Given the description of an element on the screen output the (x, y) to click on. 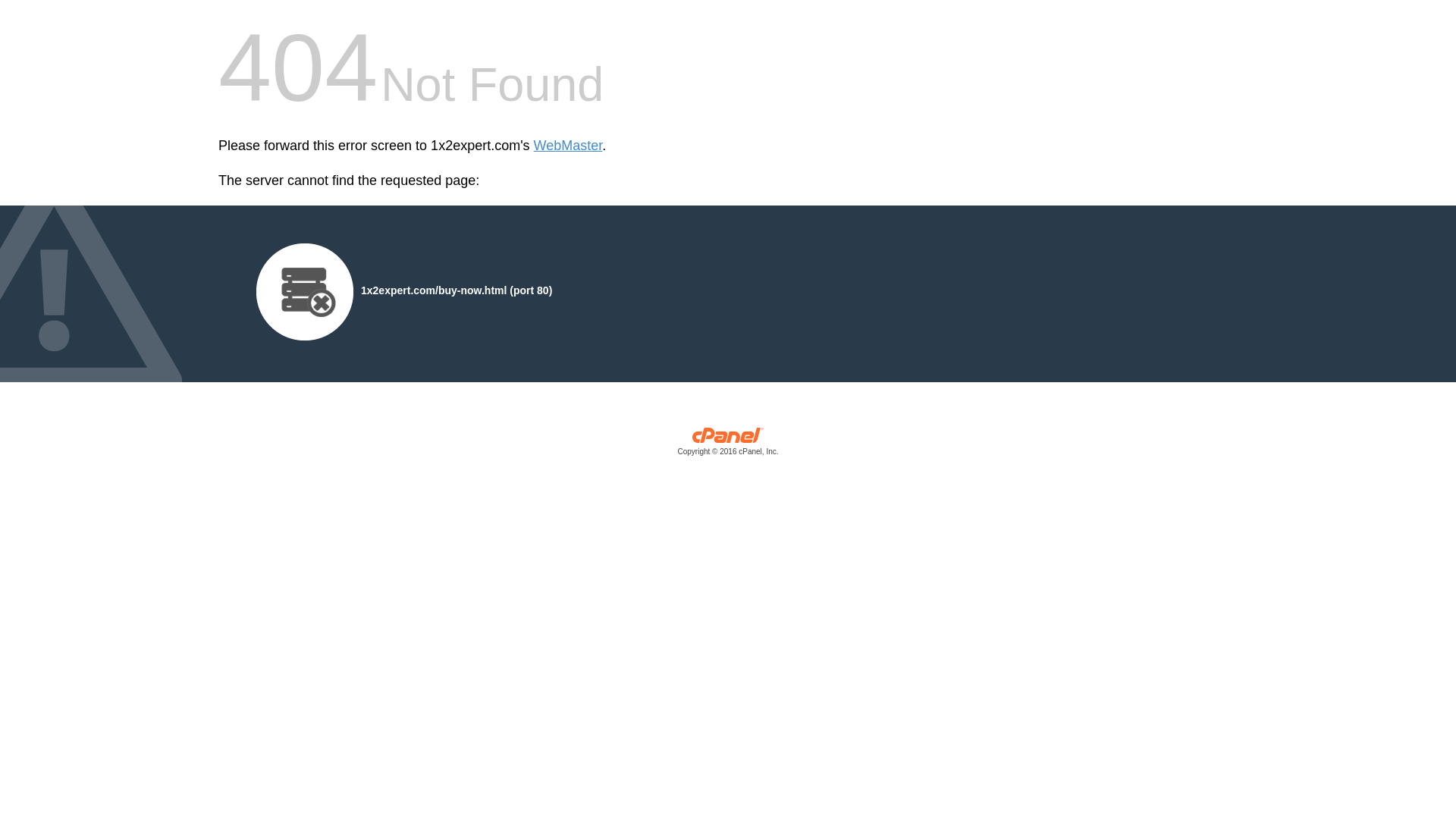
WebMaster Element type: text (567, 145)
